Given the description of an element on the screen output the (x, y) to click on. 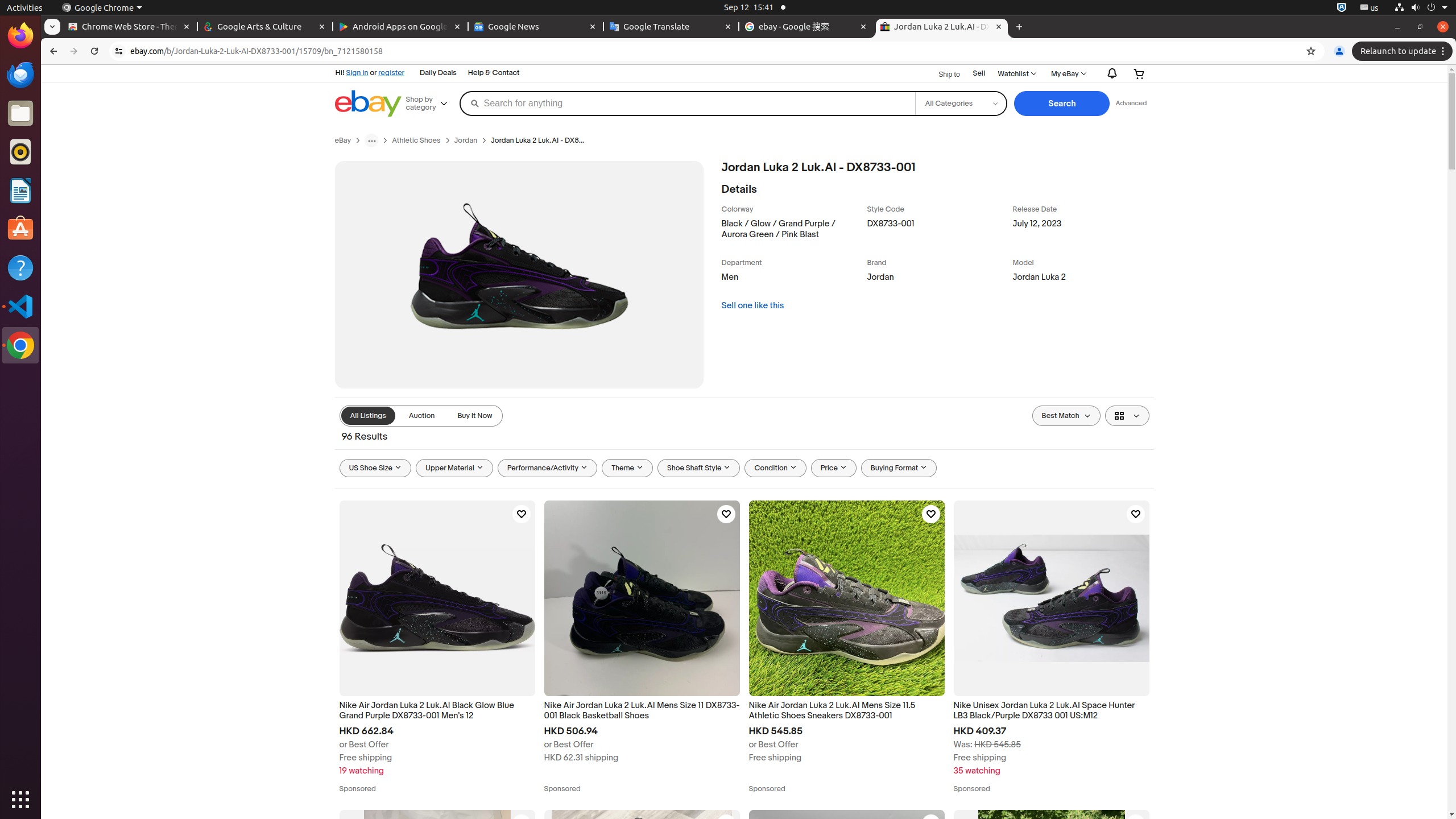
Click to watch item - Nike Unisex Jordan Luka 2 Luk.AI Space Hunter LB3 Black/Purple DX8733 001 US:M12 Element type: push-button (1135, 514)
Files Element type: push-button (20, 113)
My eBay Element type: link (1067, 73)
Black / Glow / Grand Purple / Aurora Green / Pink Blast Element type: table-cell (791, 230)
July 12, 2023 Element type: table-cell (1082, 230)
